Given the description of an element on the screen output the (x, y) to click on. 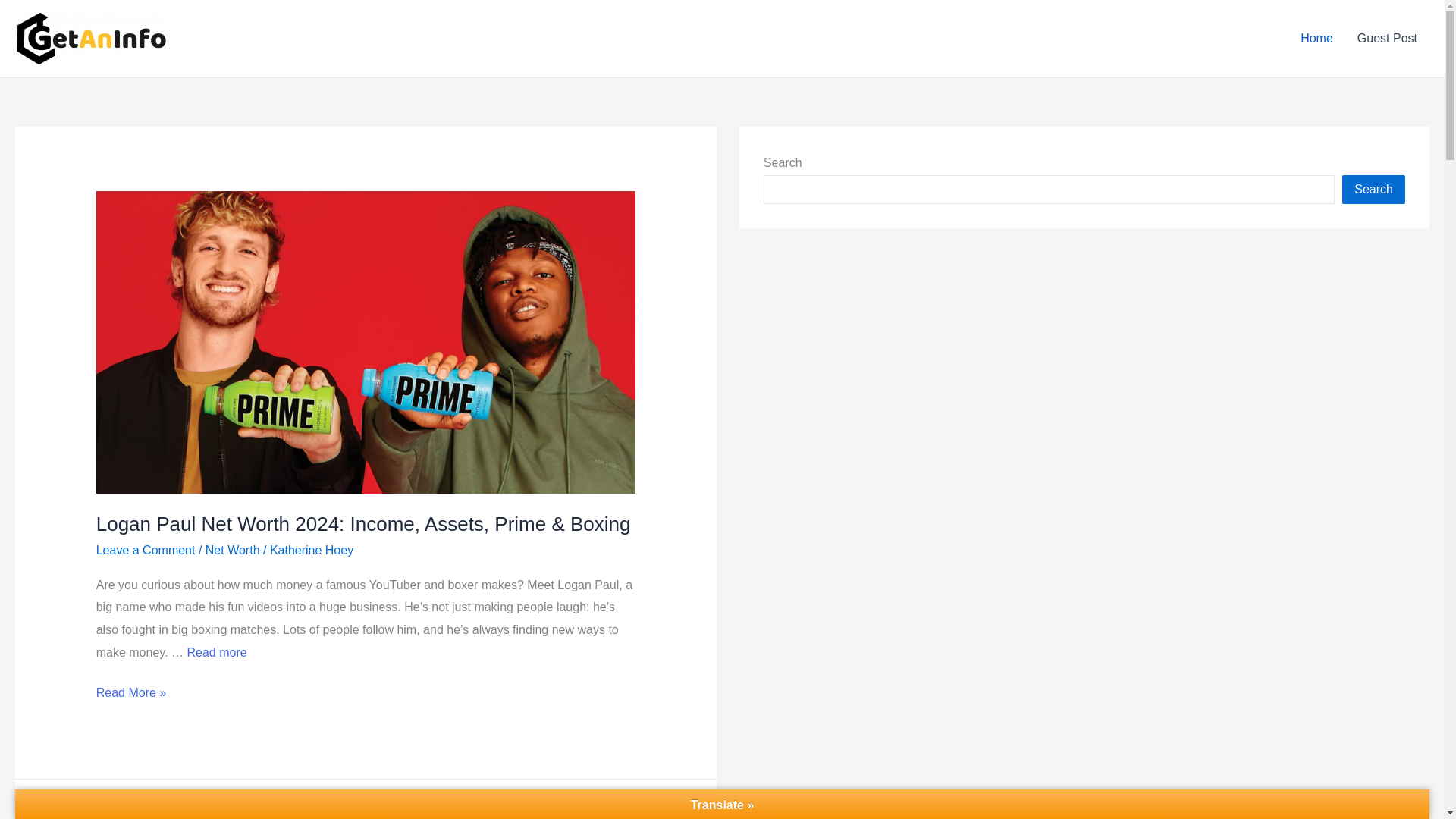
Net Worth (232, 549)
Leave a Comment (145, 549)
View all posts by Katherine Hoey (311, 549)
Guest Post (1387, 38)
Home (1316, 38)
Read more (216, 652)
Katherine Hoey (311, 549)
